Given the description of an element on the screen output the (x, y) to click on. 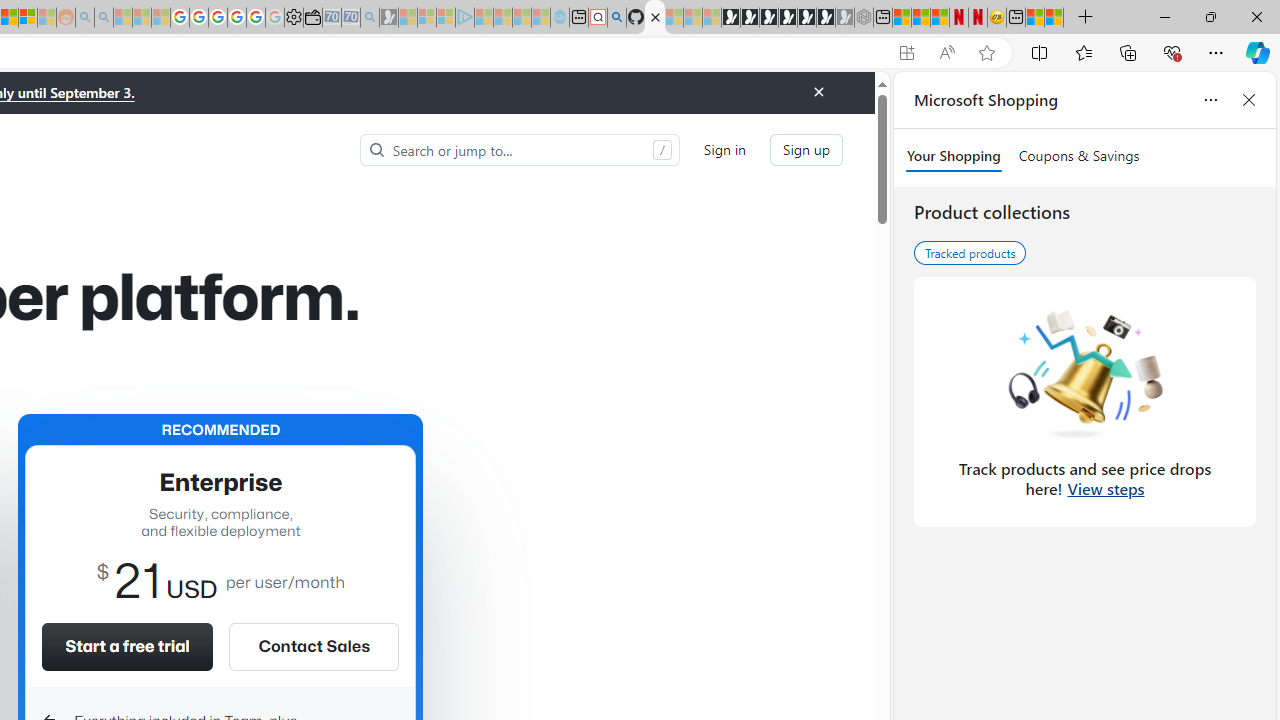
Contact Sales (313, 646)
App available. Install GitHub (906, 53)
